Given the description of an element on the screen output the (x, y) to click on. 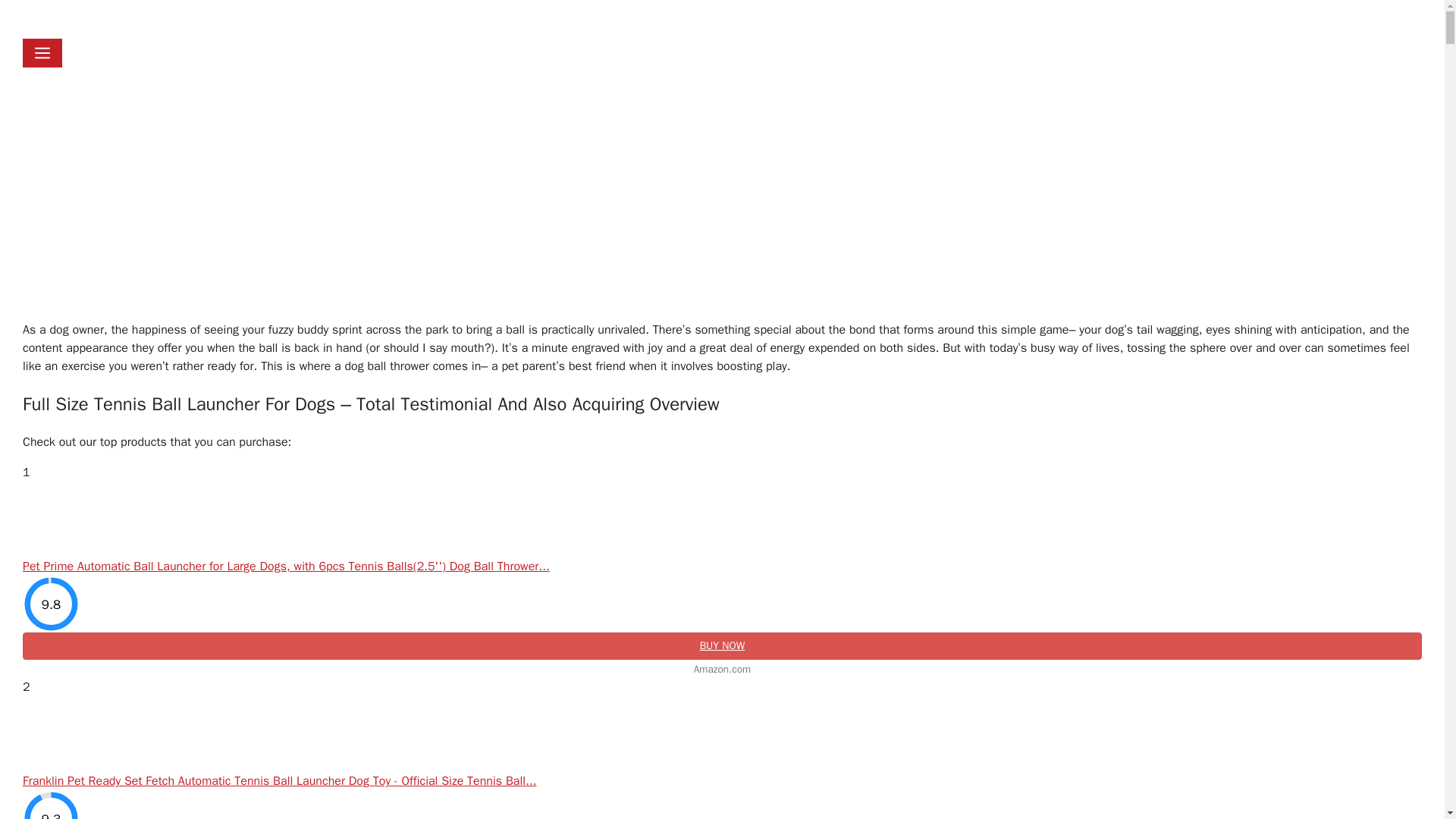
9.3 (51, 804)
Vet Ranch (212, 18)
Vet Ranch (306, 19)
View all posts by Arthur Crowley (80, 237)
Vet Ranch (117, 19)
9.8 (51, 603)
